Given the description of an element on the screen output the (x, y) to click on. 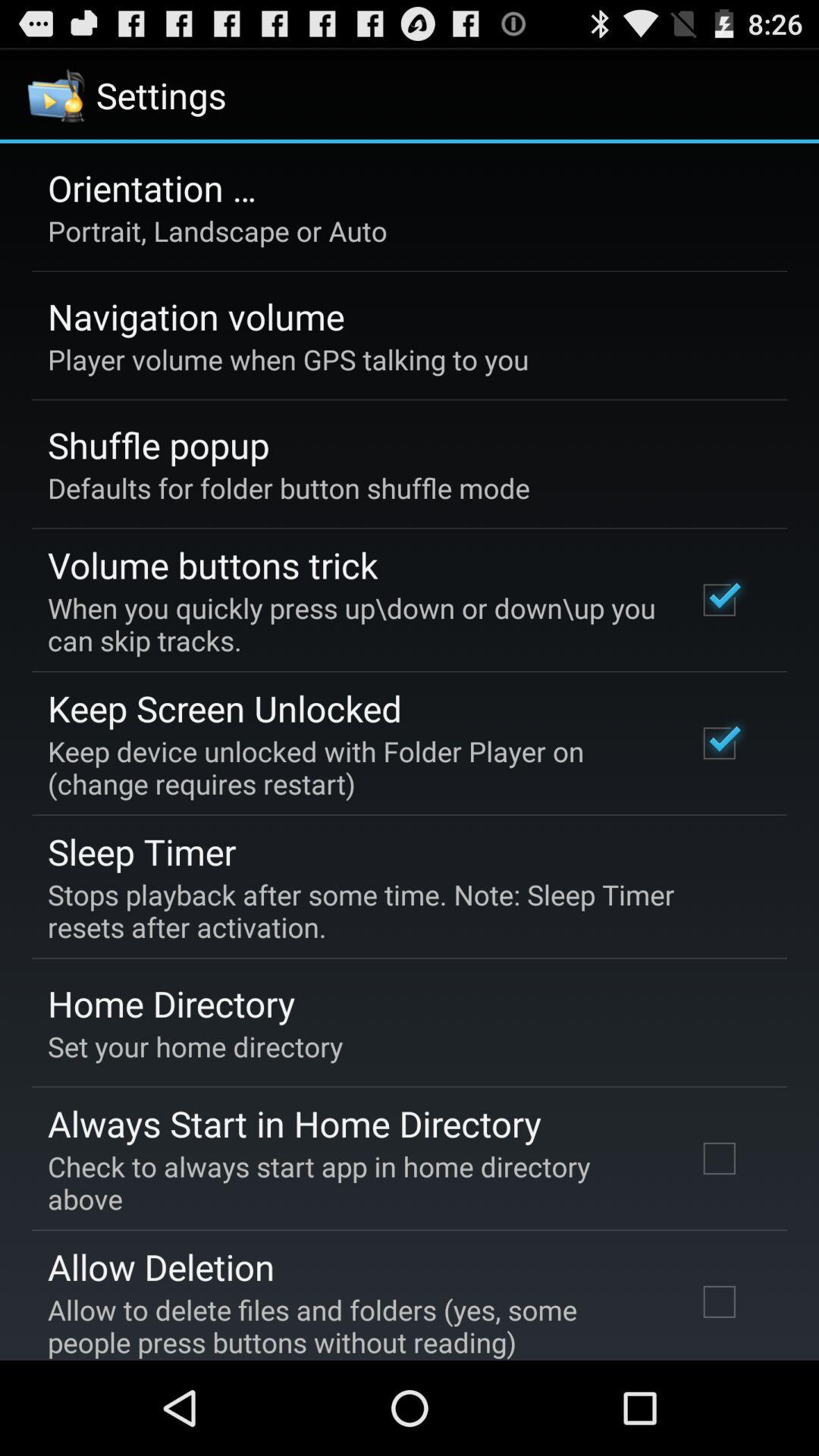
choose icon below the allow deletion app (351, 1325)
